Given the description of an element on the screen output the (x, y) to click on. 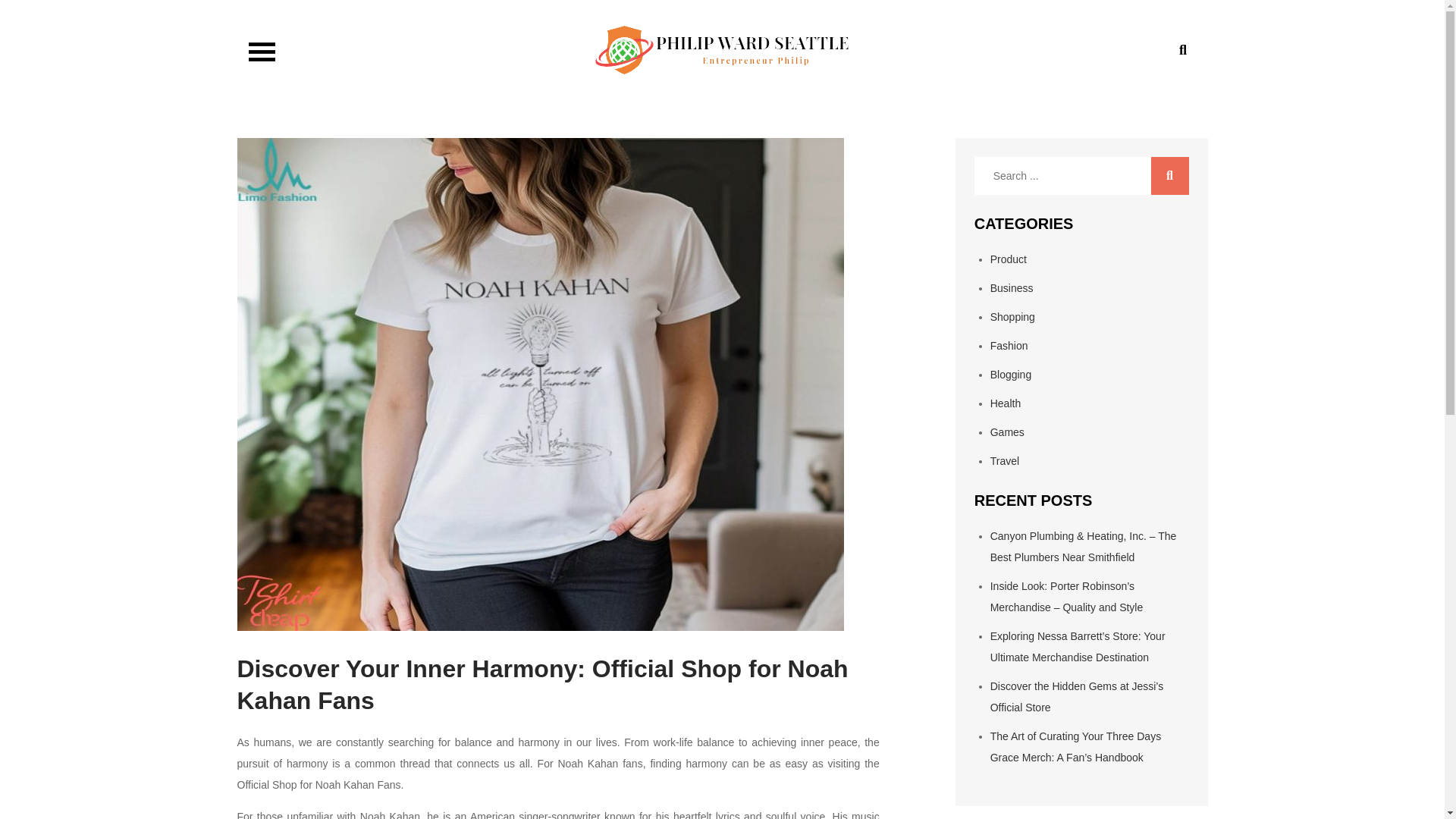
Games (1007, 431)
Health (1005, 403)
Philip Ward Seattle (379, 88)
Search (1170, 175)
Fashion (1008, 345)
Shopping (1012, 316)
Business (1011, 287)
Blogging (1011, 374)
Product (1008, 259)
Travel (1004, 460)
